Given the description of an element on the screen output the (x, y) to click on. 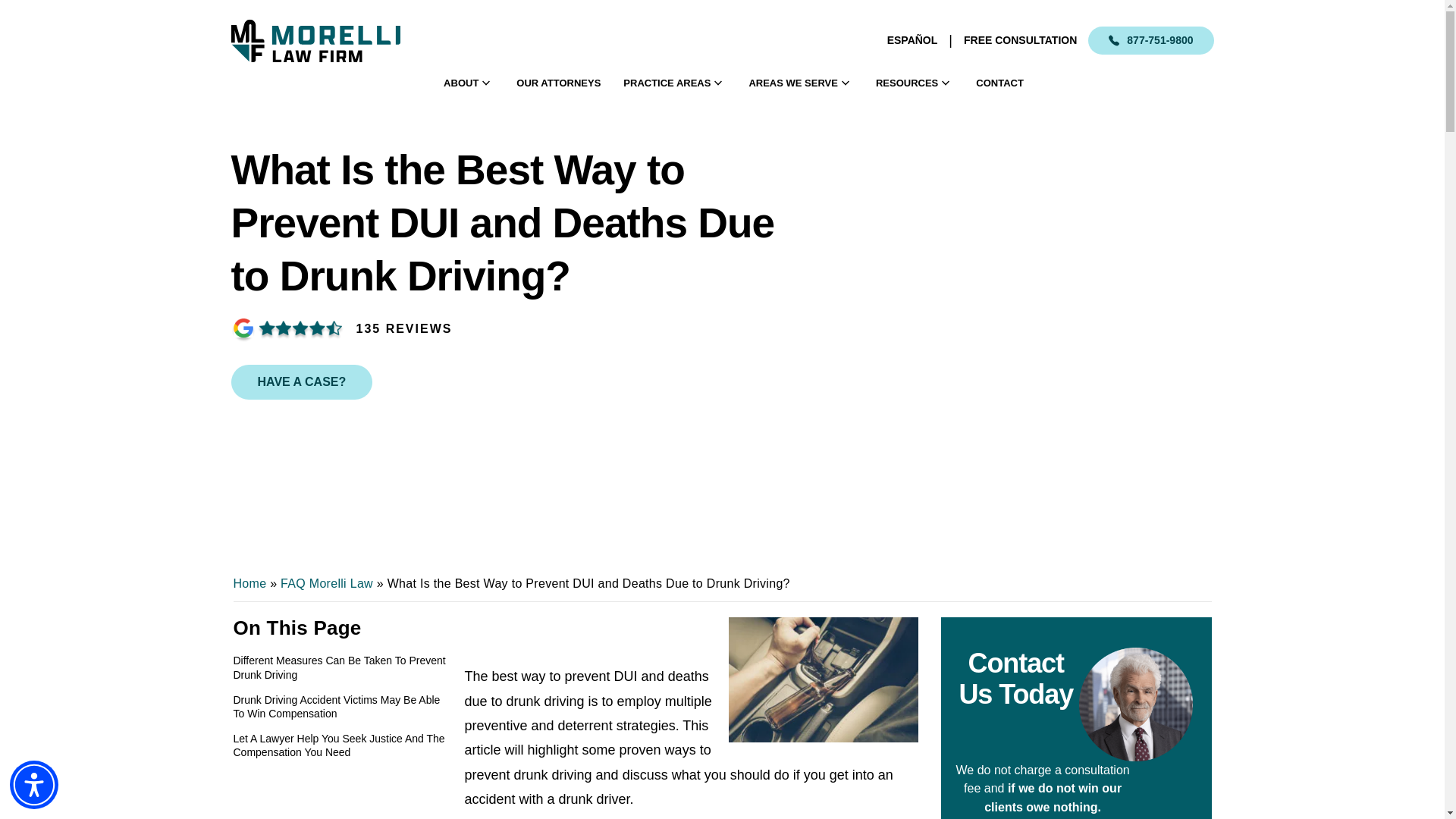
Morelli Law (325, 40)
Morelli Law (314, 40)
ABOUT (461, 83)
Different Measures Can Be Taken To Prevent Drunk Driving (342, 666)
FREE CONSULTATION (1020, 40)
Free Consultation (1020, 40)
AREAS WE SERVE (793, 83)
RESOURCES (906, 83)
877-751-9800 (1149, 40)
OUR ATTORNEYS (557, 83)
Accessibility Menu (34, 784)
Call to Morelli Law (1149, 40)
PRACTICE AREAS (666, 83)
